Given the description of an element on the screen output the (x, y) to click on. 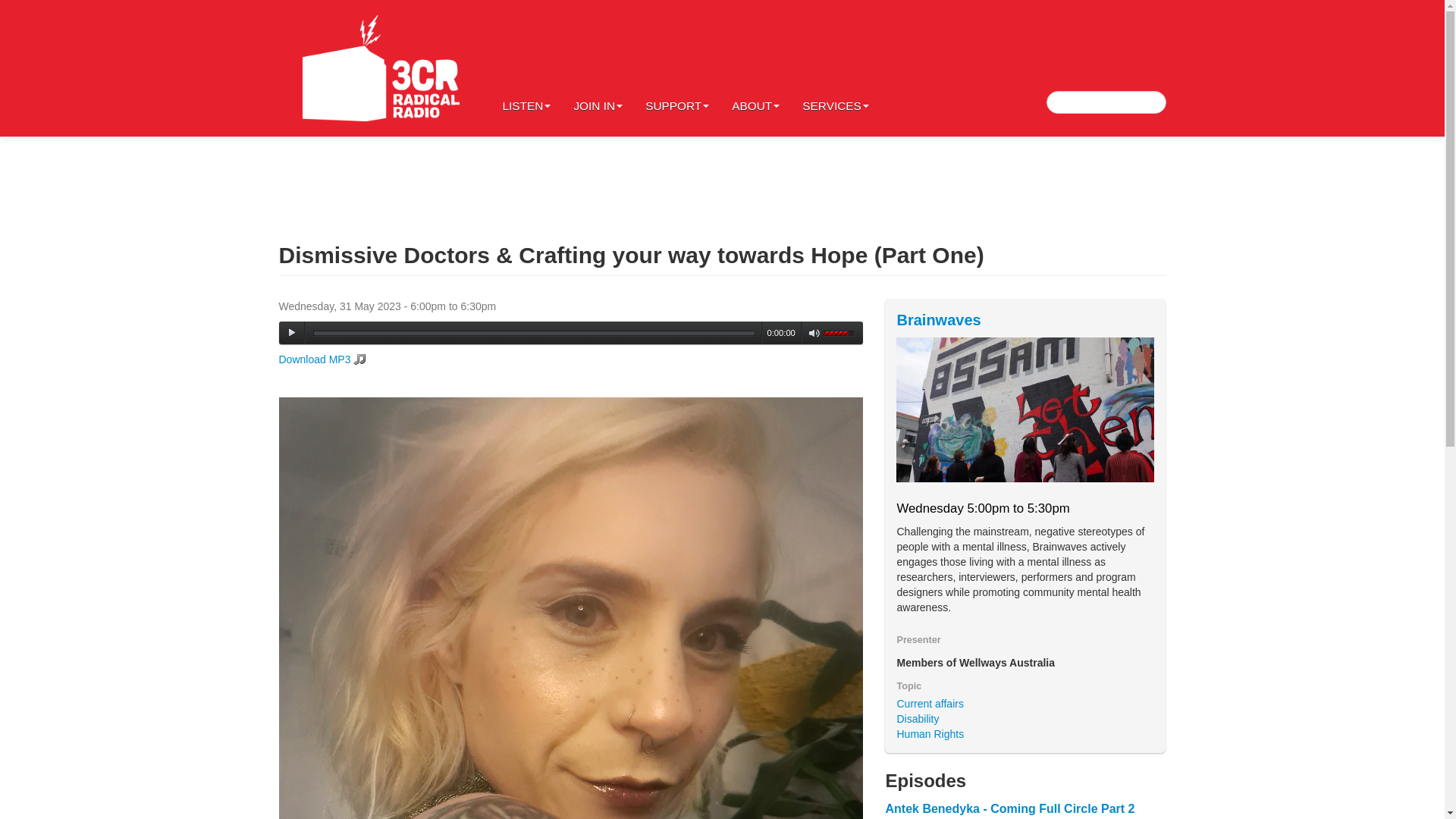
Download mp3 (322, 359)
Search (26, 11)
Enter the terms you wish to search for. (1106, 101)
Home (381, 68)
play (291, 332)
